Given the description of an element on the screen output the (x, y) to click on. 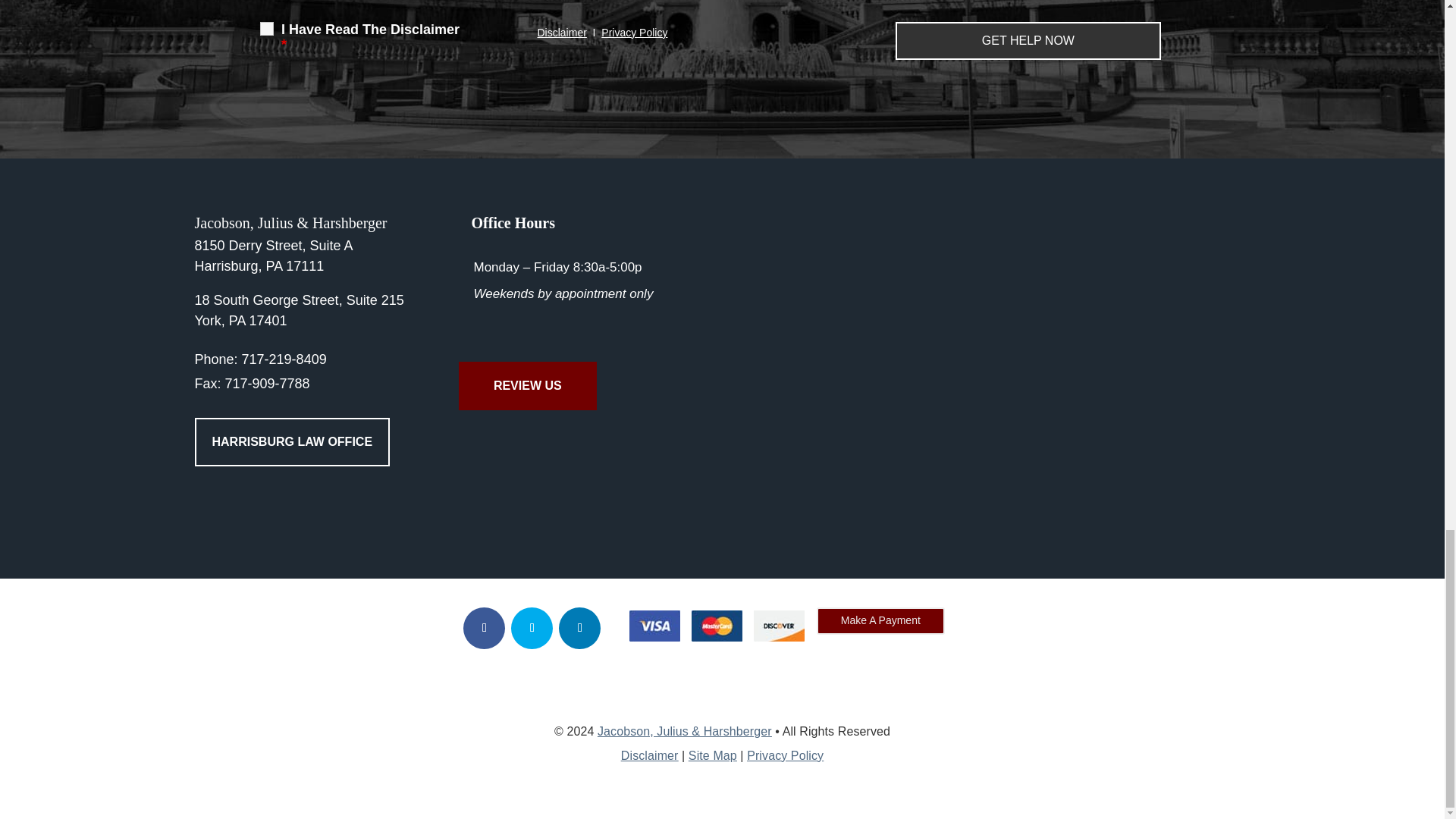
GET HELP NOW (1027, 40)
Follow on LinkedIn (579, 628)
cards (717, 625)
Follow on Twitter (532, 628)
Follow on Facebook (484, 628)
